Given the description of an element on the screen output the (x, y) to click on. 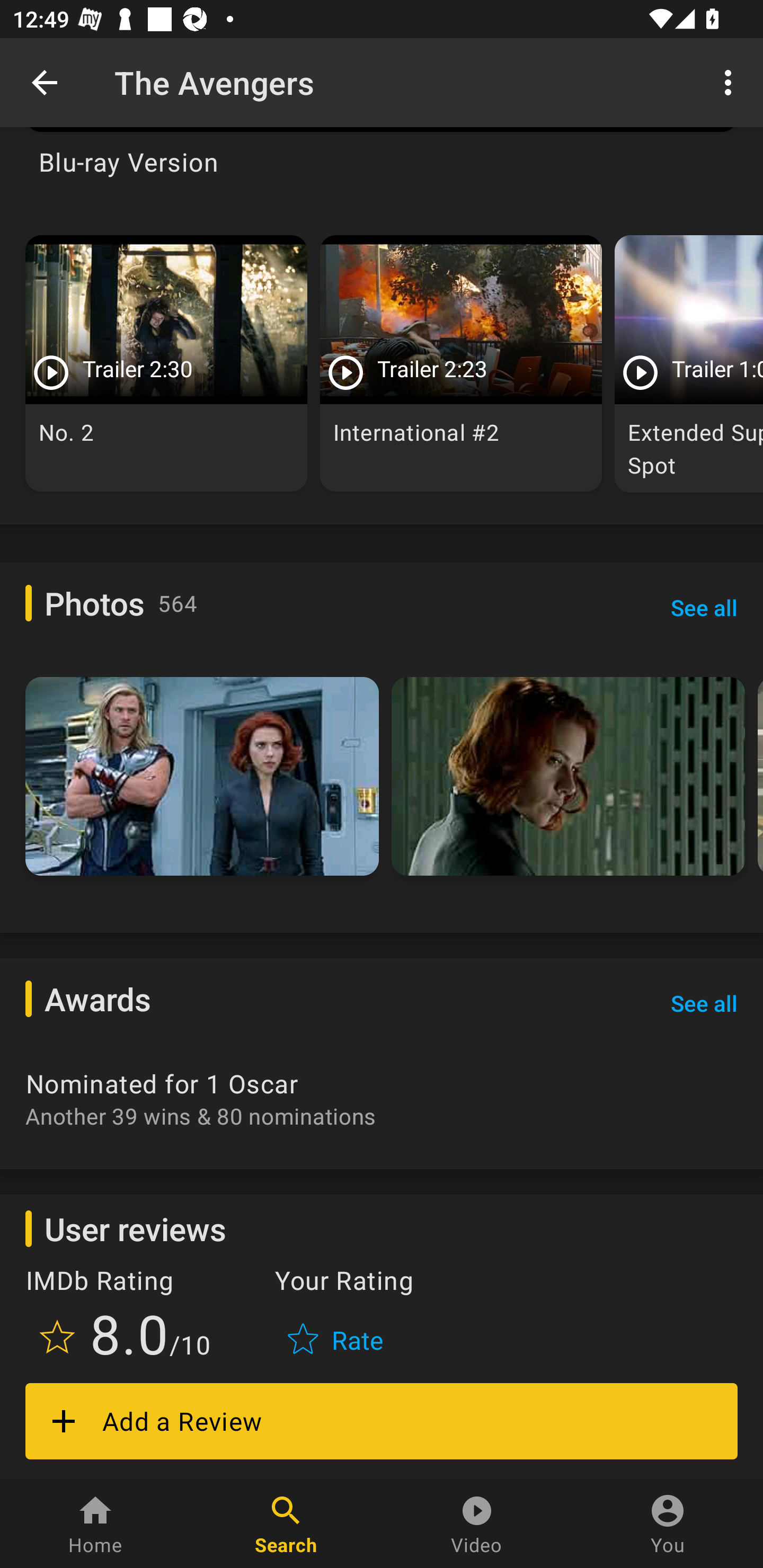
More options (731, 81)
Blu-ray Version (381, 171)
Trailer 2:30 No. 2 (166, 363)
Trailer 2:23 International #2 (460, 363)
See all See all Photos (703, 607)
See all See all Awards (703, 1003)
Your Rating Rate (337, 1316)
Add a Review (381, 1420)
Home (95, 1523)
Video (476, 1523)
You (667, 1523)
